Given the description of an element on the screen output the (x, y) to click on. 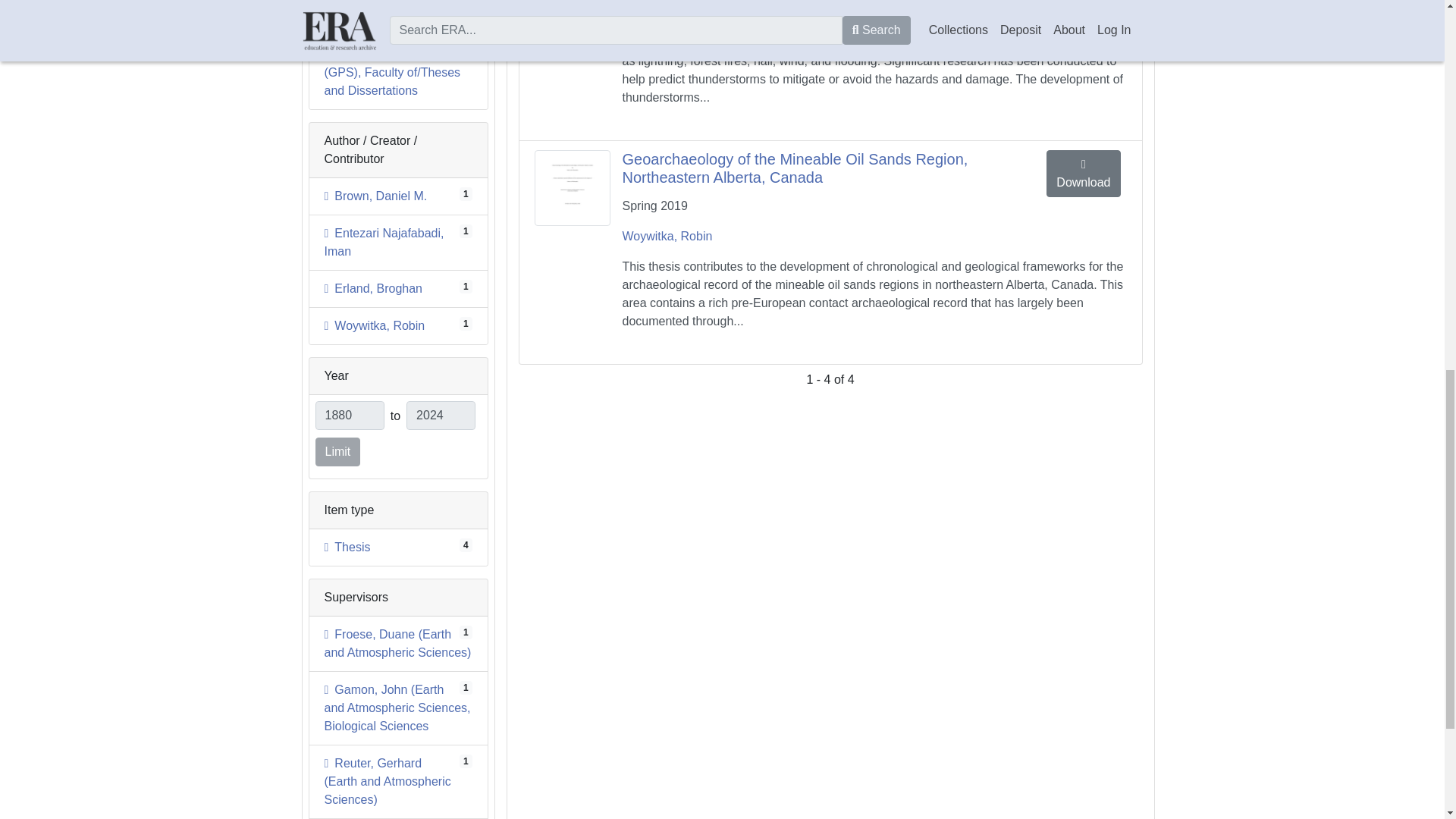
Limit (338, 451)
Limit (338, 451)
2024 (373, 287)
1880 (384, 241)
